Given the description of an element on the screen output the (x, y) to click on. 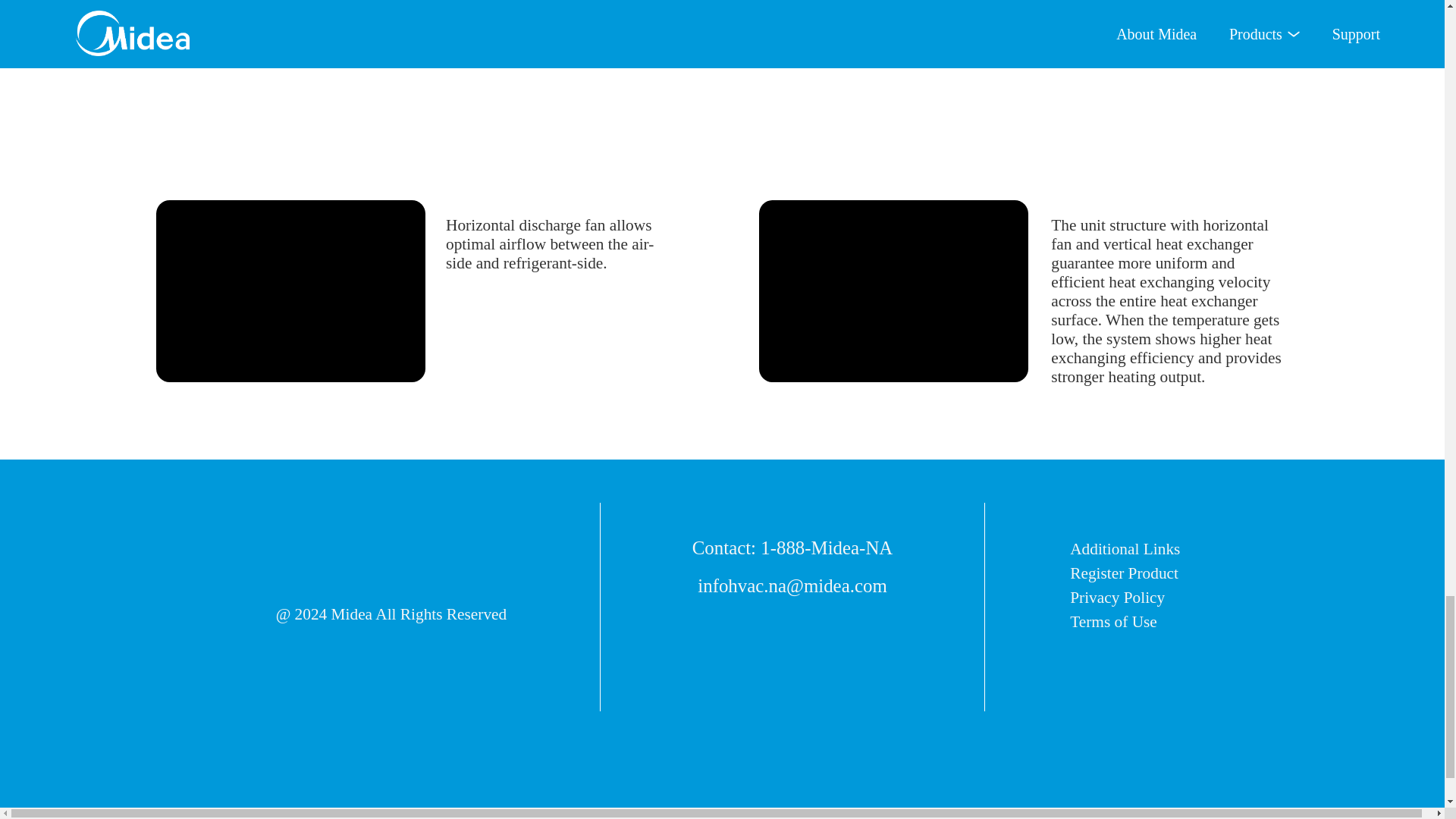
Terms of Use (1123, 622)
Privacy Policy (1123, 598)
Register Product (1123, 573)
